Given the description of an element on the screen output the (x, y) to click on. 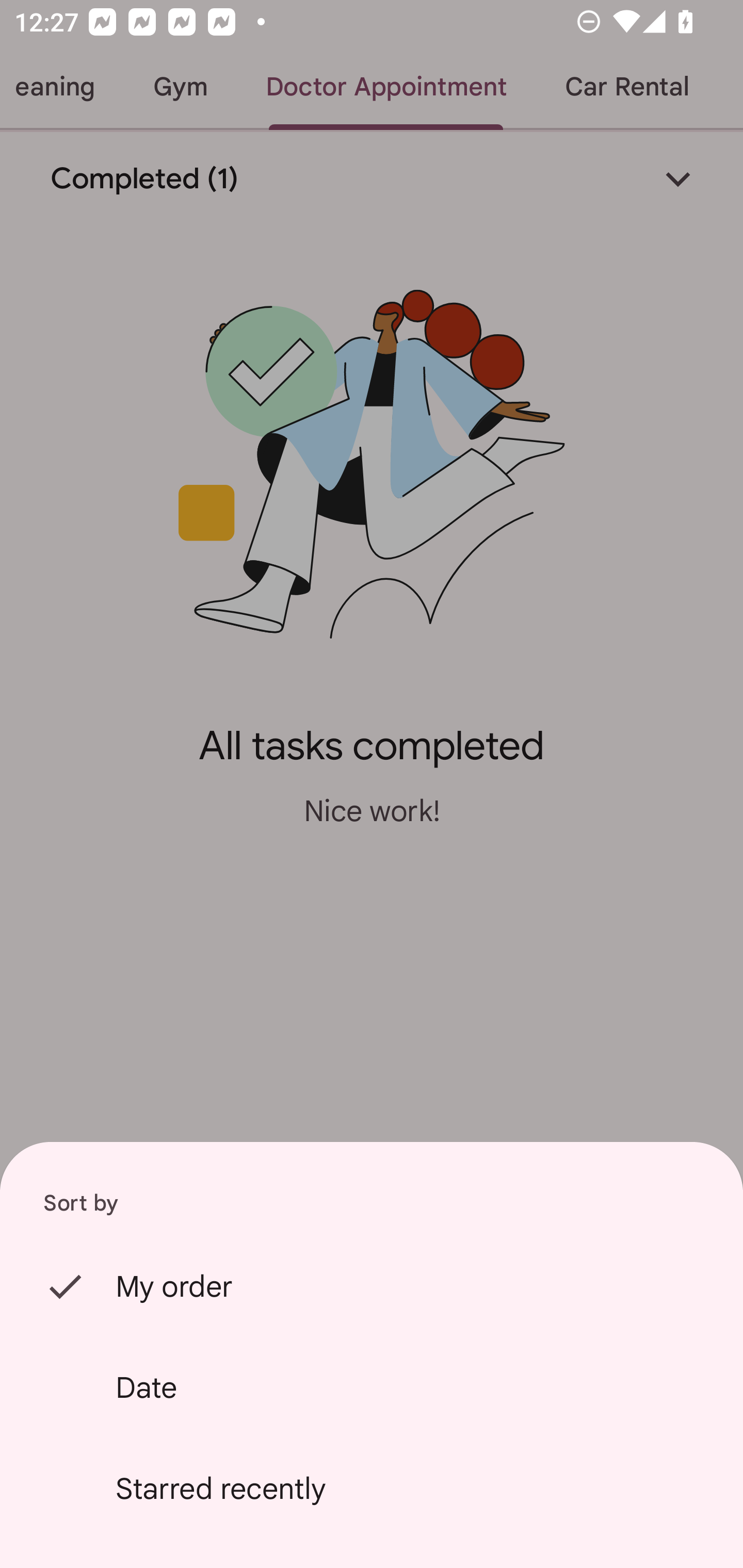
My order (371, 1286)
Date (371, 1387)
Starred recently (371, 1488)
